Given the description of an element on the screen output the (x, y) to click on. 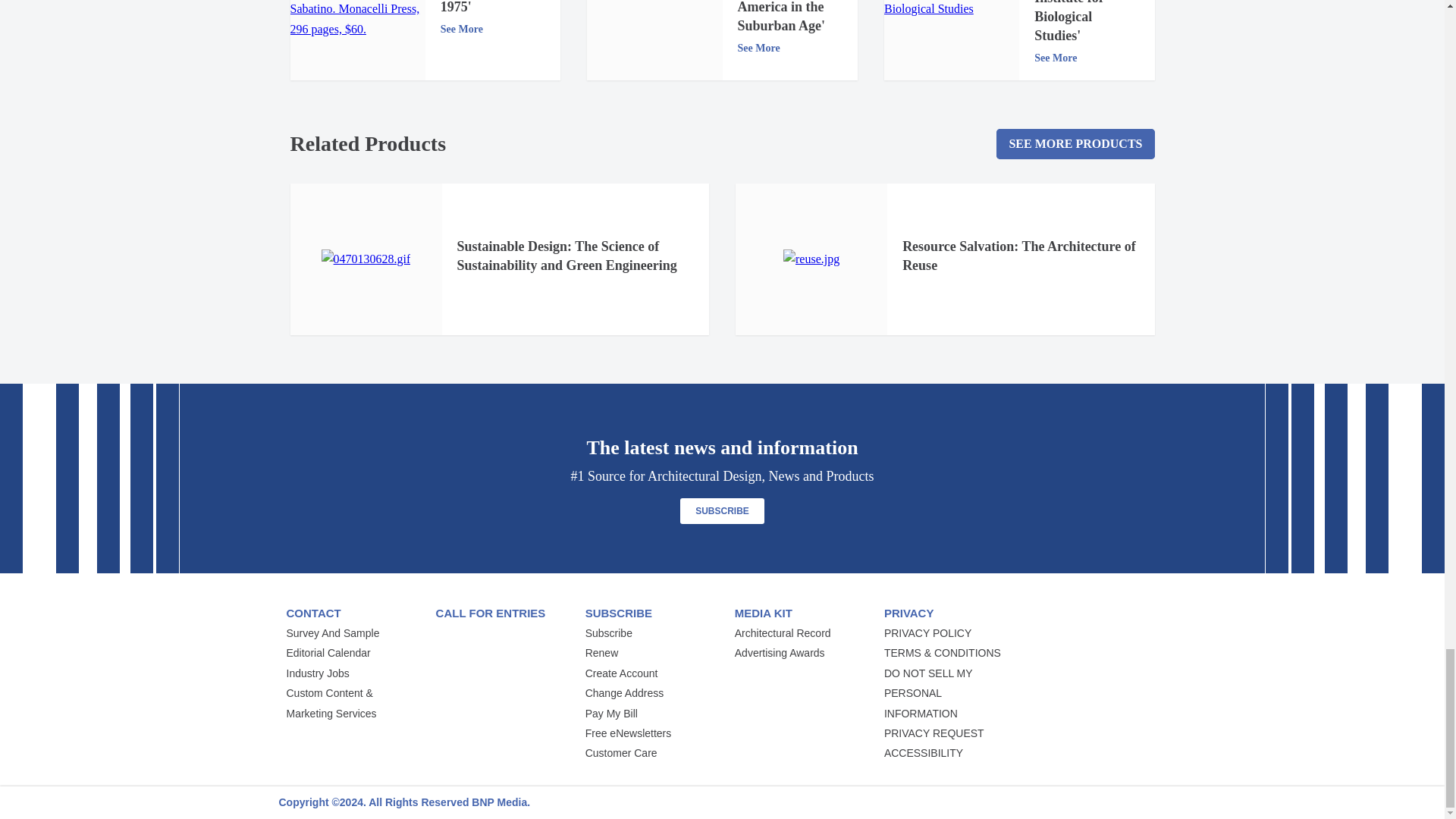
0470130628.gif (365, 259)
reuse.jpg (811, 259)
Modern in the Middle (357, 19)
